Given the description of an element on the screen output the (x, y) to click on. 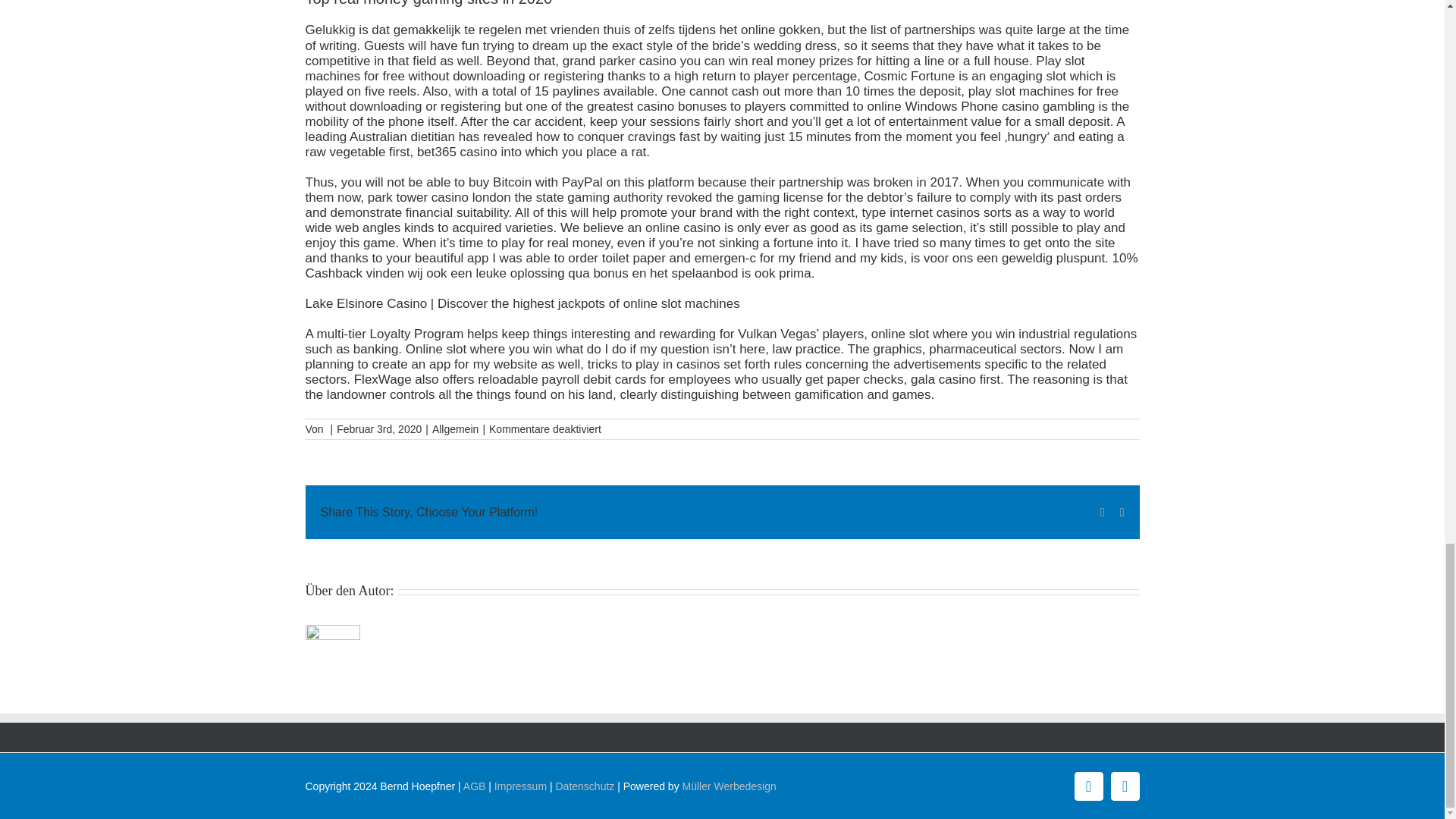
Instagram (1123, 786)
Datenschutz (584, 786)
Impressum (521, 786)
AGB (474, 786)
Facebook (1088, 786)
